Given the description of an element on the screen output the (x, y) to click on. 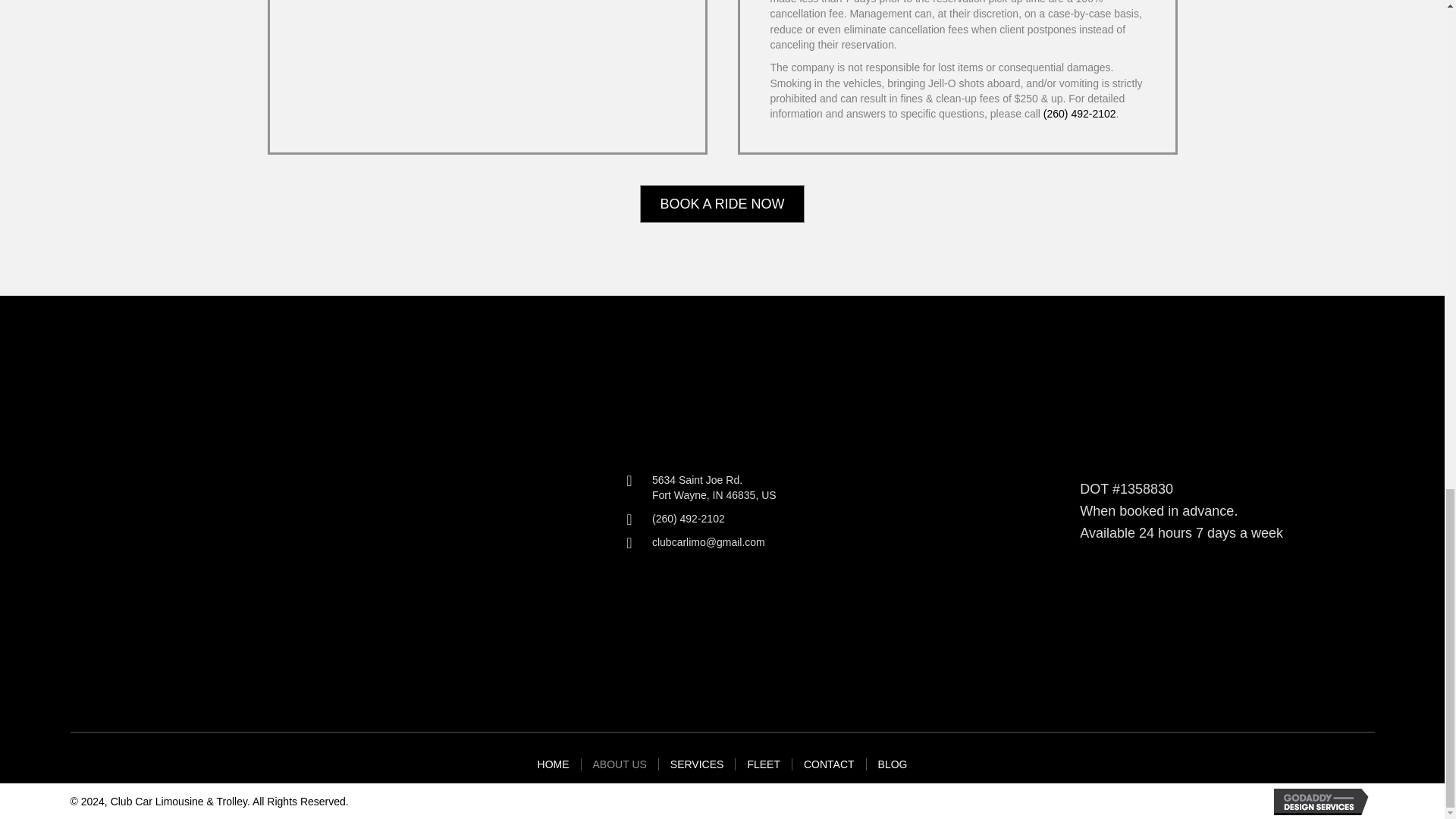
CONTACT (714, 487)
ABOUT US (829, 764)
BOOK A RIDE NOW (619, 764)
FLEET (721, 204)
HOME (763, 764)
SERVICES (552, 764)
BLOG (697, 764)
